Given the description of an element on the screen output the (x, y) to click on. 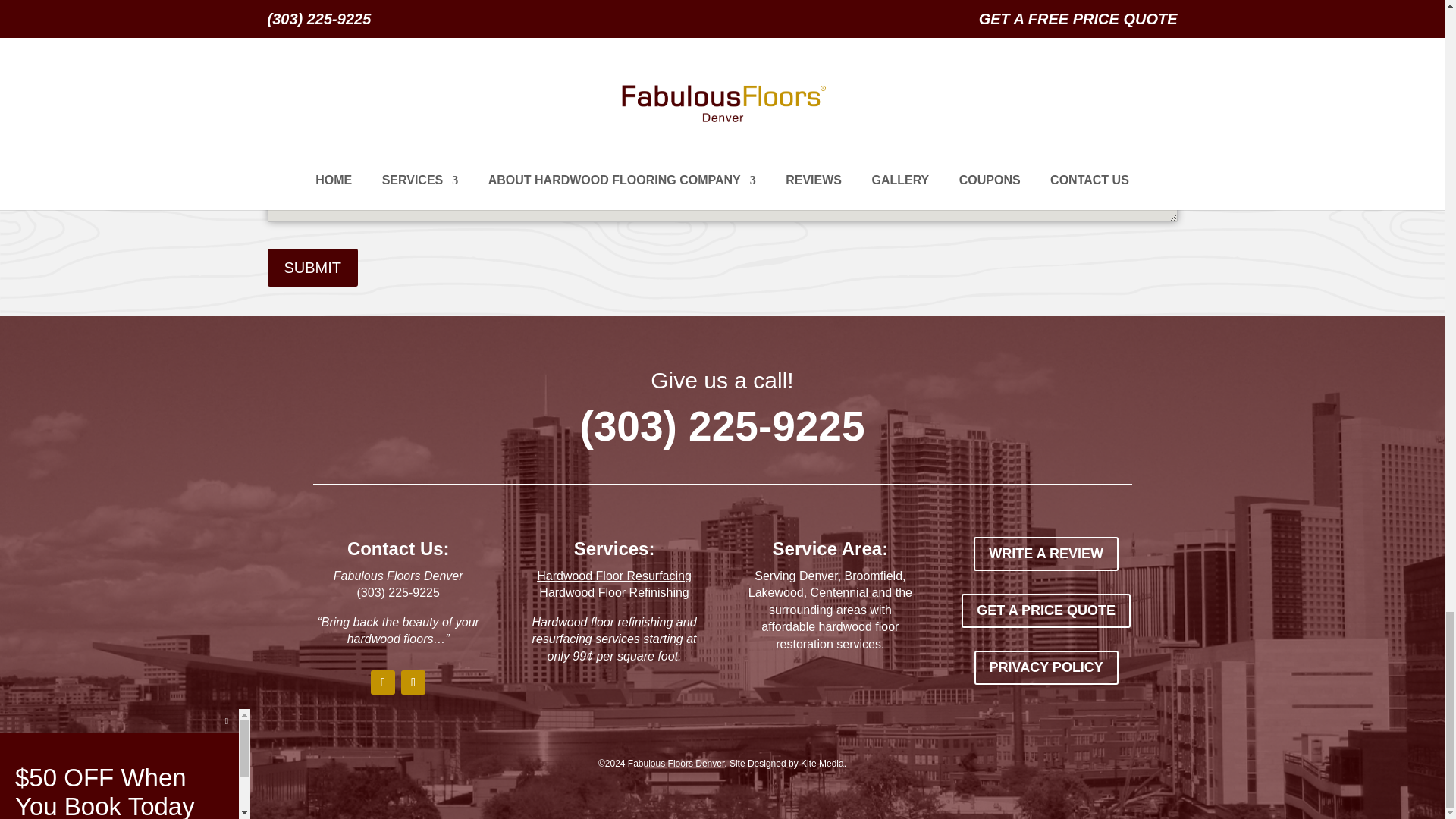
Follow on X (413, 682)
Resurfacing (770, 22)
SUBMIT (312, 267)
Refinishing (877, 22)
Not Sure? (976, 22)
Follow on Facebook (382, 682)
Hardwood Floor Refinishing (613, 592)
Hardwood Floor Resurfacing (614, 575)
SUBMIT (312, 267)
